Given the description of an element on the screen output the (x, y) to click on. 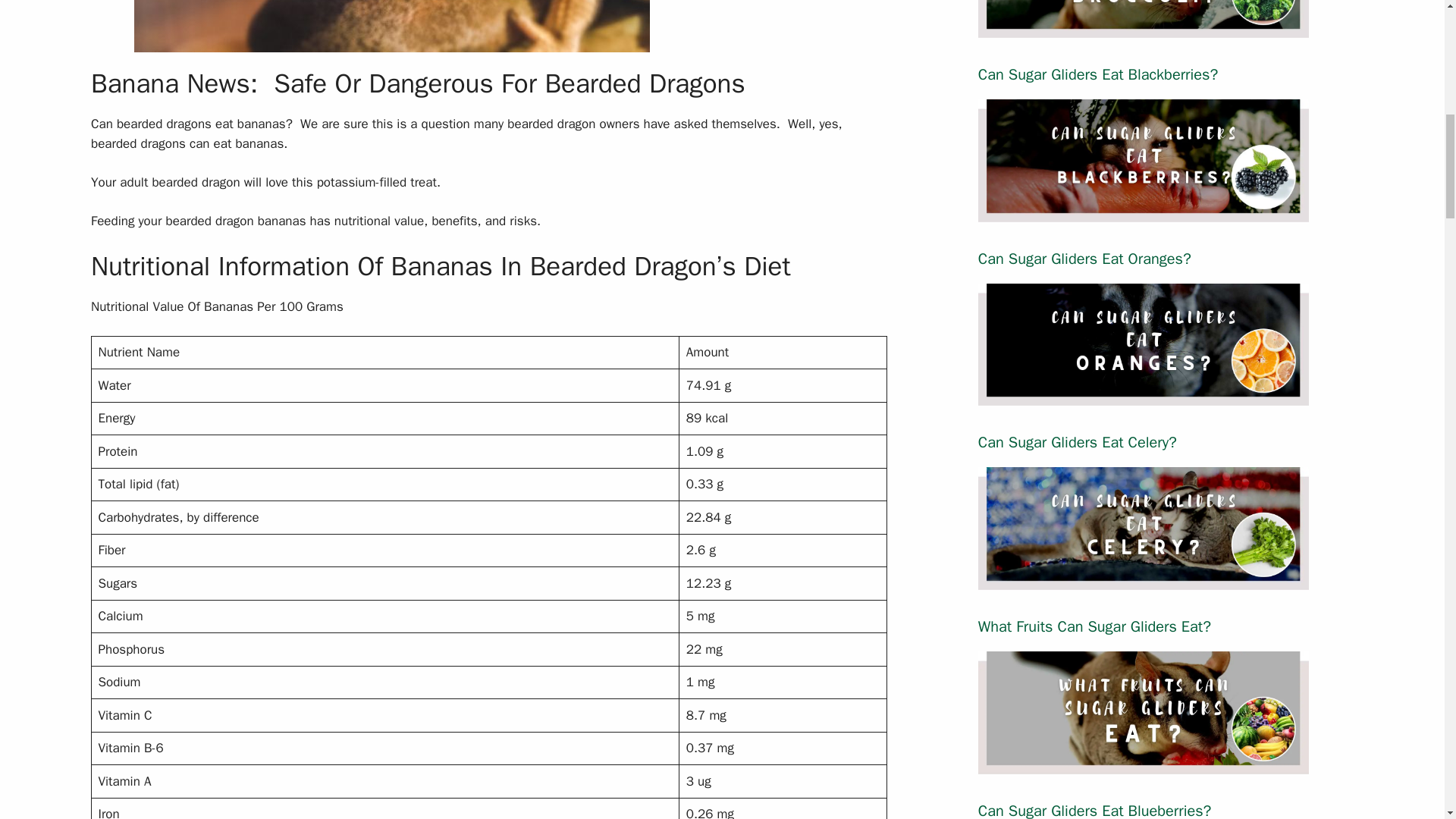
What Fruits Can Sugar Gliders Eat? (1143, 763)
Can Sugar Gliders Eat Celery? (1143, 579)
Can Sugar Gliders Eat Oranges? (1143, 396)
What Fruits Can Sugar Gliders Eat? (1094, 626)
Can Sugar Gliders Eat Blueberries? (1094, 810)
Can Sugar Gliders Eat Oranges? (1084, 258)
Can Sugar Gliders Eat Blackberries? (1143, 211)
Can Sugar Gliders Eat Blackberries? (1097, 74)
Can Sugar Gliders Eat Broccoli? (1143, 28)
Can Sugar Gliders Eat Celery? (1077, 442)
